Given the description of an element on the screen output the (x, y) to click on. 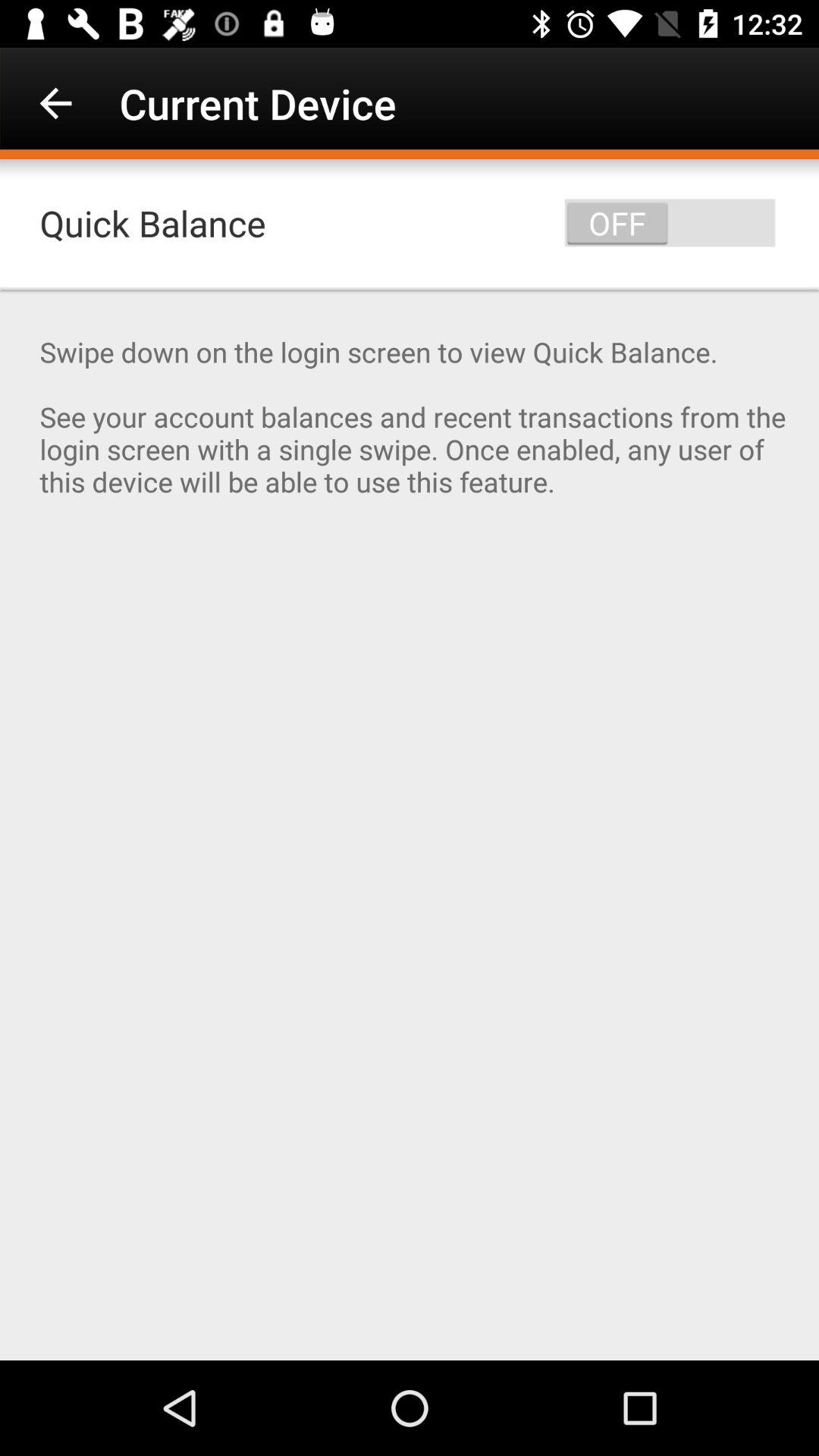
launch icon next to the current device icon (55, 103)
